Given the description of an element on the screen output the (x, y) to click on. 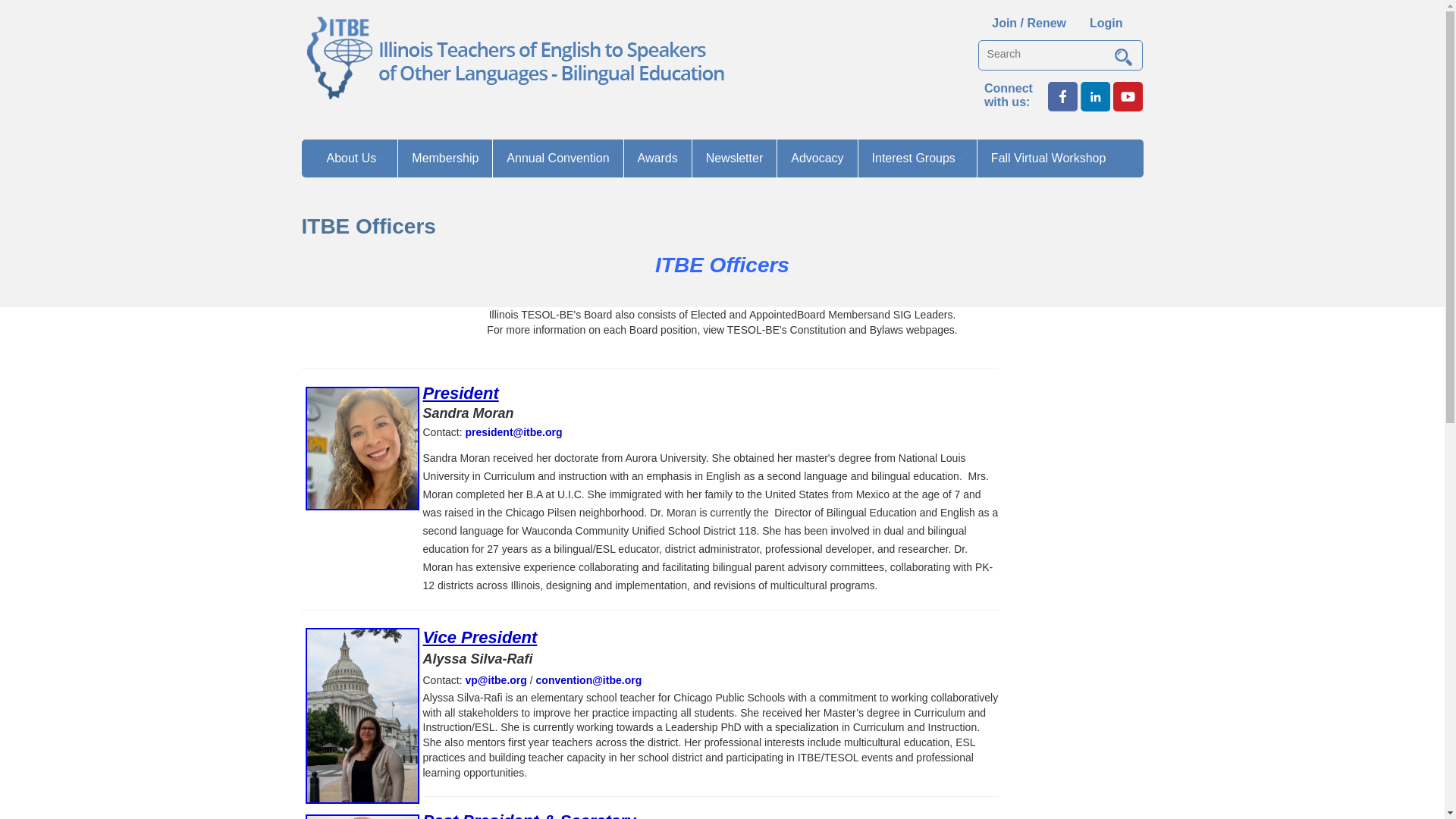
About Us (355, 158)
Login (1105, 22)
